Given the description of an element on the screen output the (x, y) to click on. 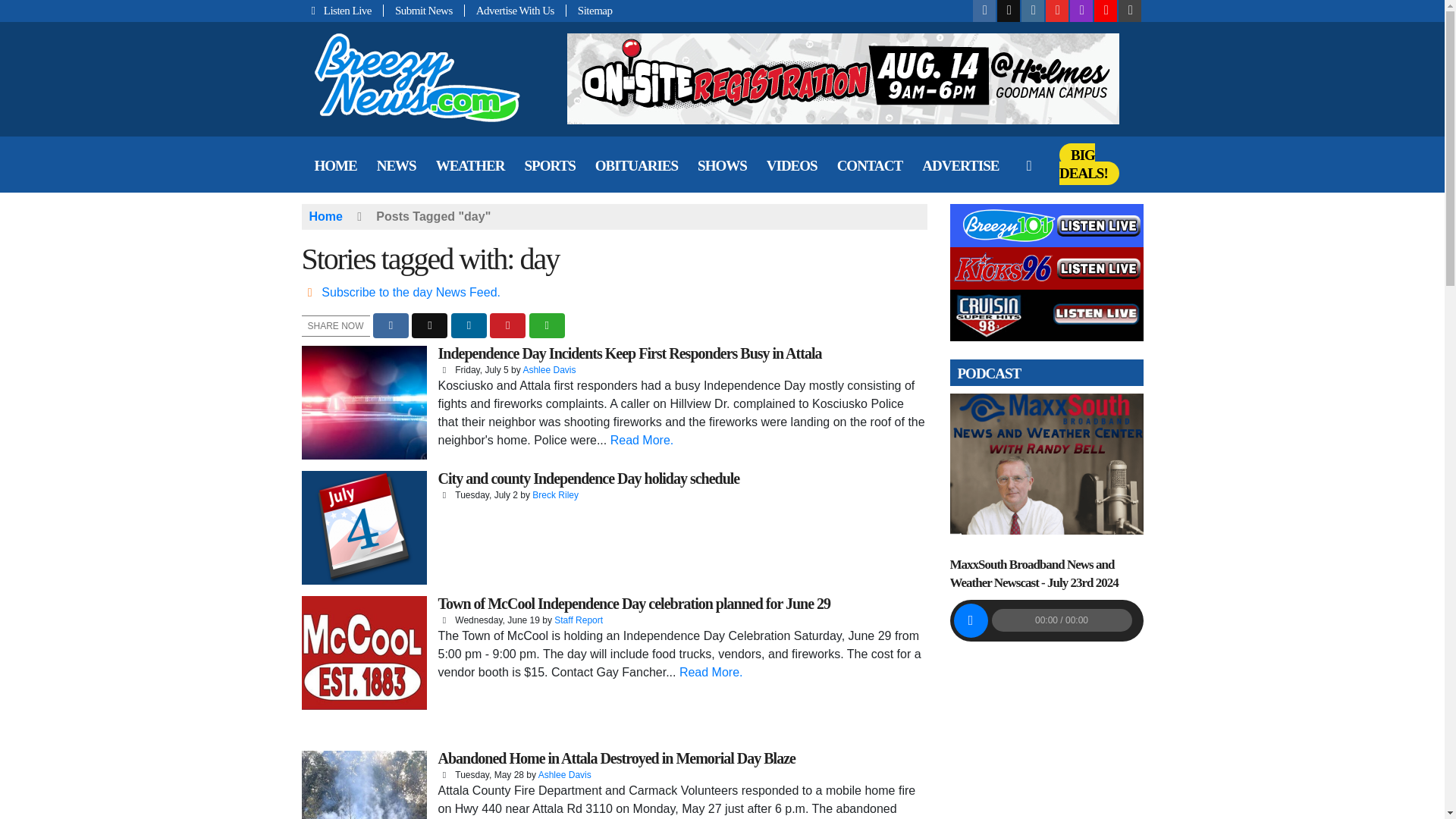
Follow us on Soundcloud (1105, 11)
Follow us on X (1008, 11)
Submit News (424, 10)
Follow our Podcast (1081, 11)
Advertise With Us (515, 10)
Follow us on Instagram (1032, 11)
Follow us on Facebook (983, 11)
Sitemap (589, 10)
Follow us on Youtube (1056, 11)
Get our iOS App (1129, 11)
Listen Live (342, 10)
